Given the description of an element on the screen output the (x, y) to click on. 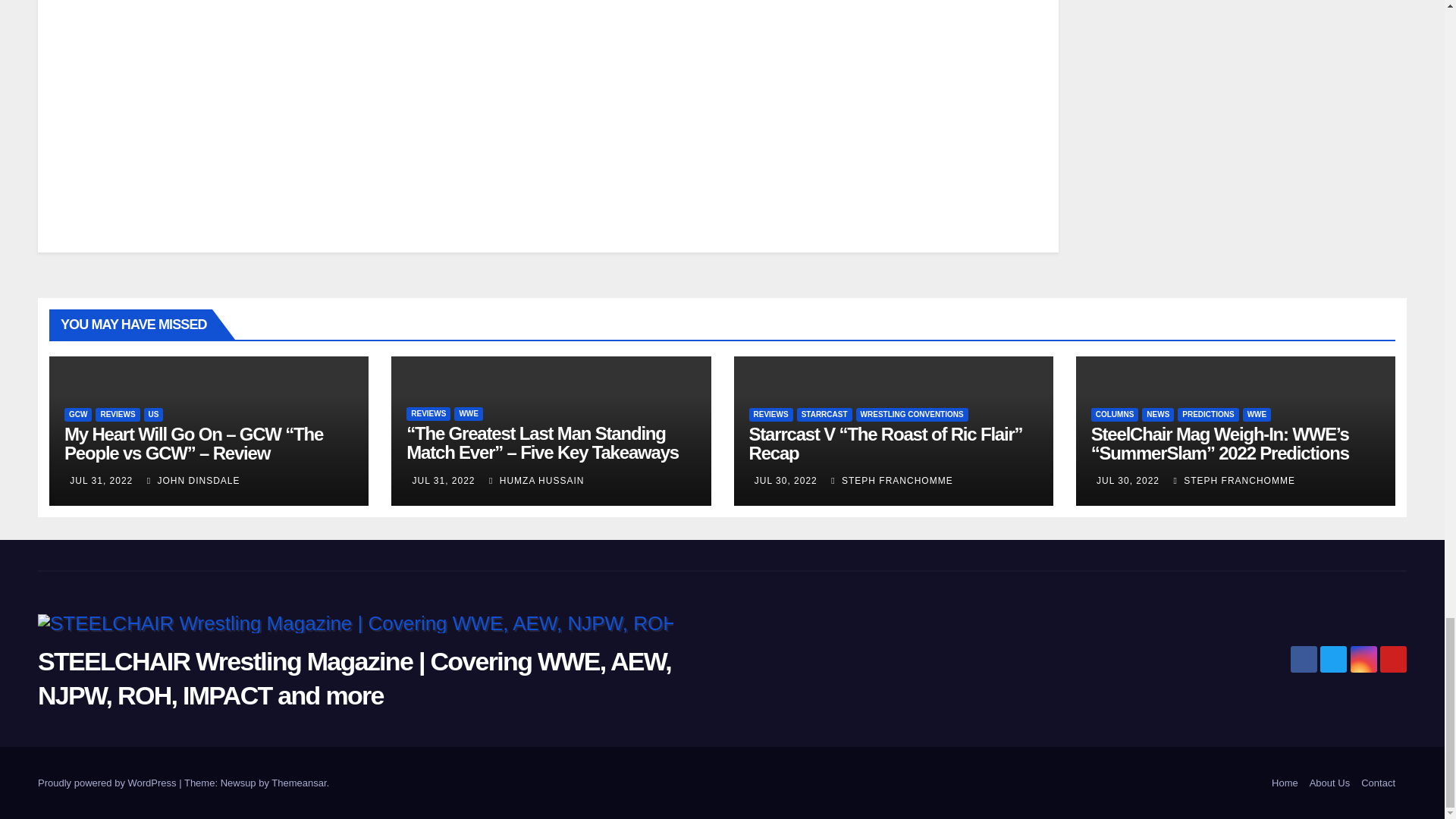
Home (1284, 782)
